Given the description of an element on the screen output the (x, y) to click on. 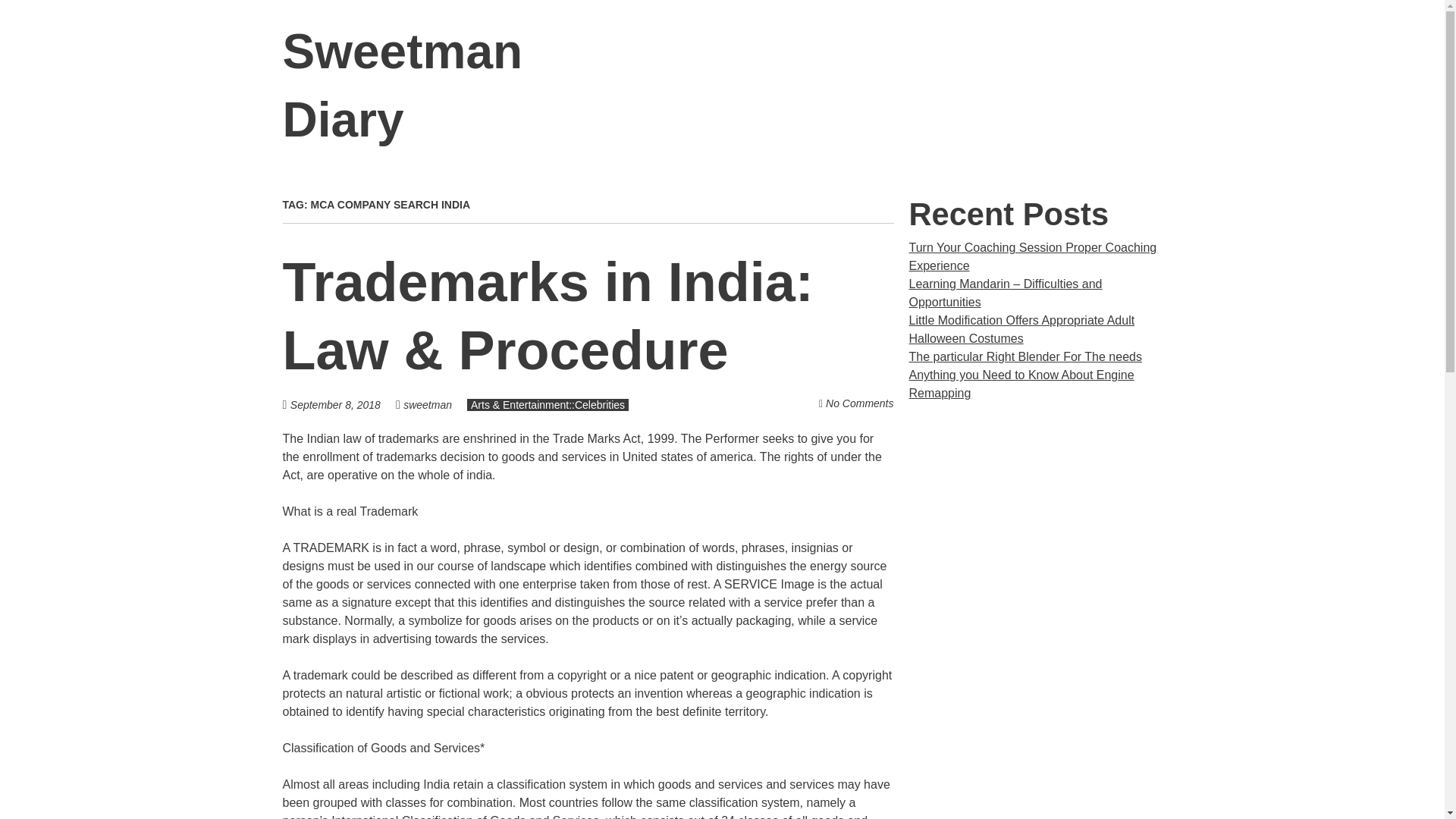
Sweetman Diary (402, 85)
No Comments (859, 403)
Turn Your Coaching Session Proper Coaching Experience (1032, 255)
The particular Right Blender For The needs (1024, 356)
Anything you Need to Know About Engine Remapping (1021, 383)
September 8, 2018 (342, 404)
Skip to content (1181, 52)
Skip to content (1181, 52)
sweetman (427, 404)
